Given the description of an element on the screen output the (x, y) to click on. 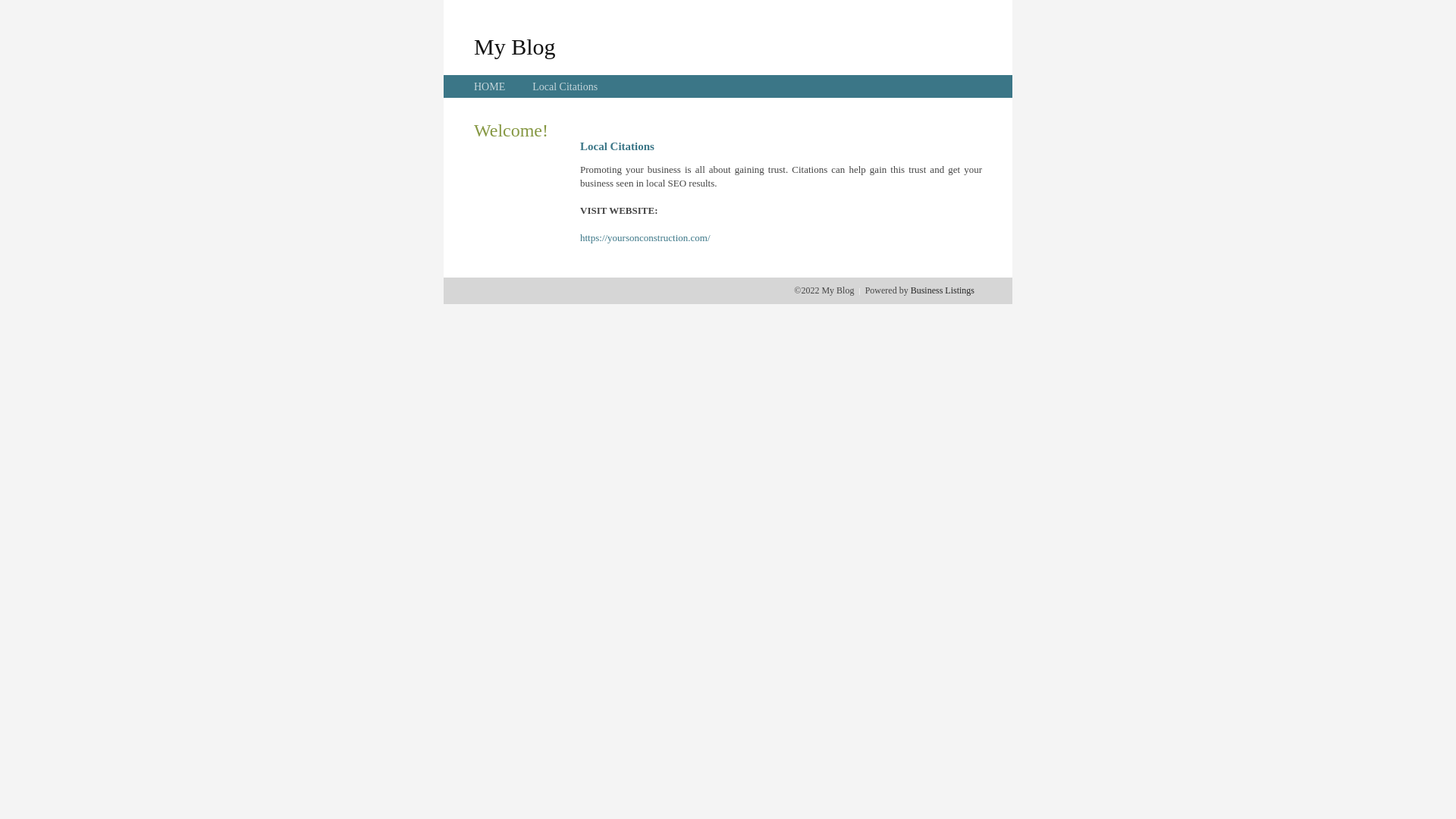
Local Citations Element type: text (564, 86)
https://yoursonconstruction.com/ Element type: text (645, 237)
Business Listings Element type: text (942, 290)
My Blog Element type: text (514, 46)
HOME Element type: text (489, 86)
